Given the description of an element on the screen output the (x, y) to click on. 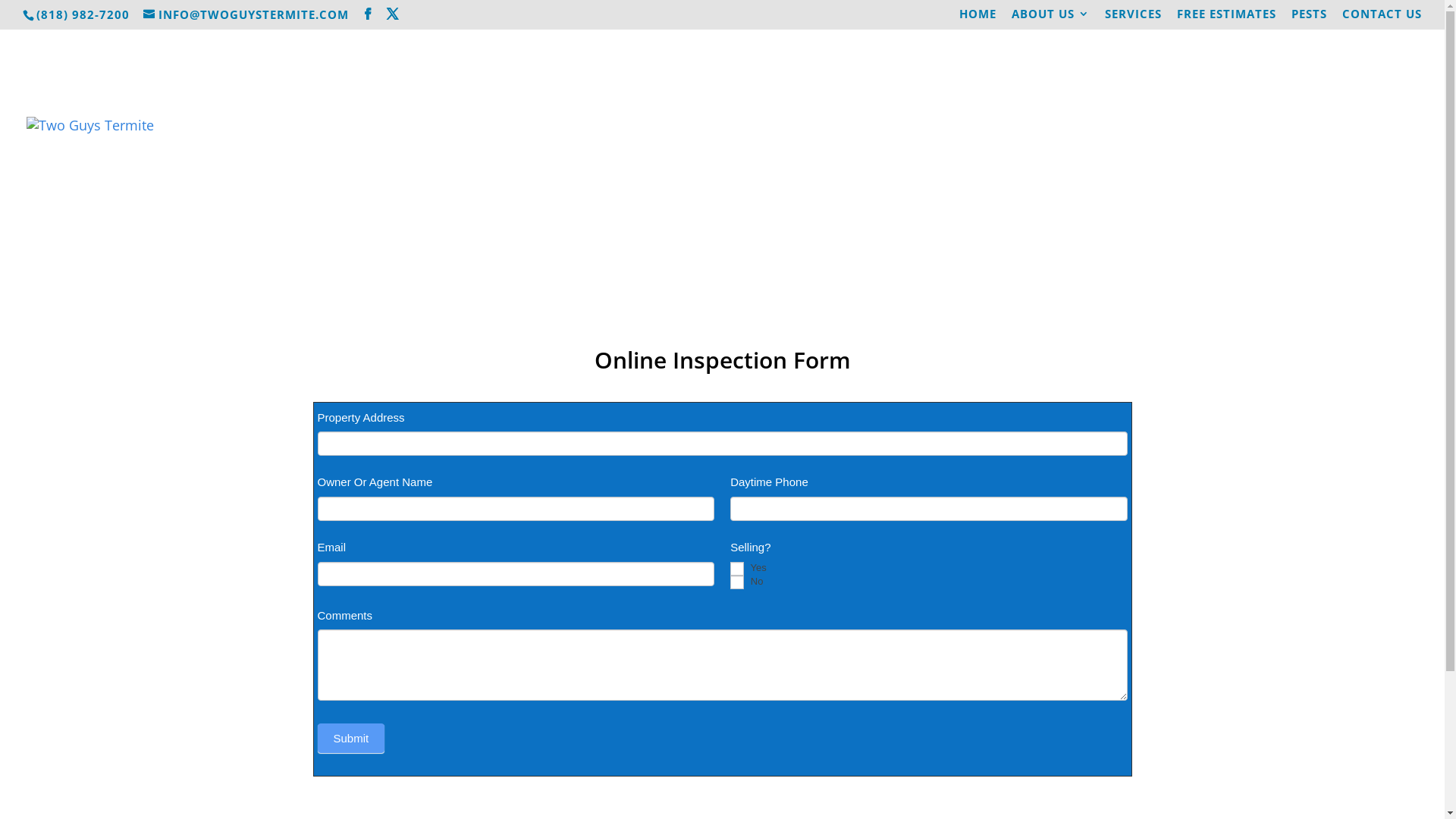
SERVICES Element type: text (1132, 18)
CONTACT US Element type: text (1381, 18)
PESTS Element type: text (1309, 18)
Submit Element type: text (350, 738)
FREE ESTIMATES Element type: text (1226, 18)
ABOUT US Element type: text (1050, 18)
ADA Accessibility Statement Element type: text (1316, 188)
(818) 982-7200 Element type: text (84, 13)
INFO@TWOGUYSTERMITE.COM Element type: text (245, 13)
HOME Element type: text (977, 18)
